Given the description of an element on the screen output the (x, y) to click on. 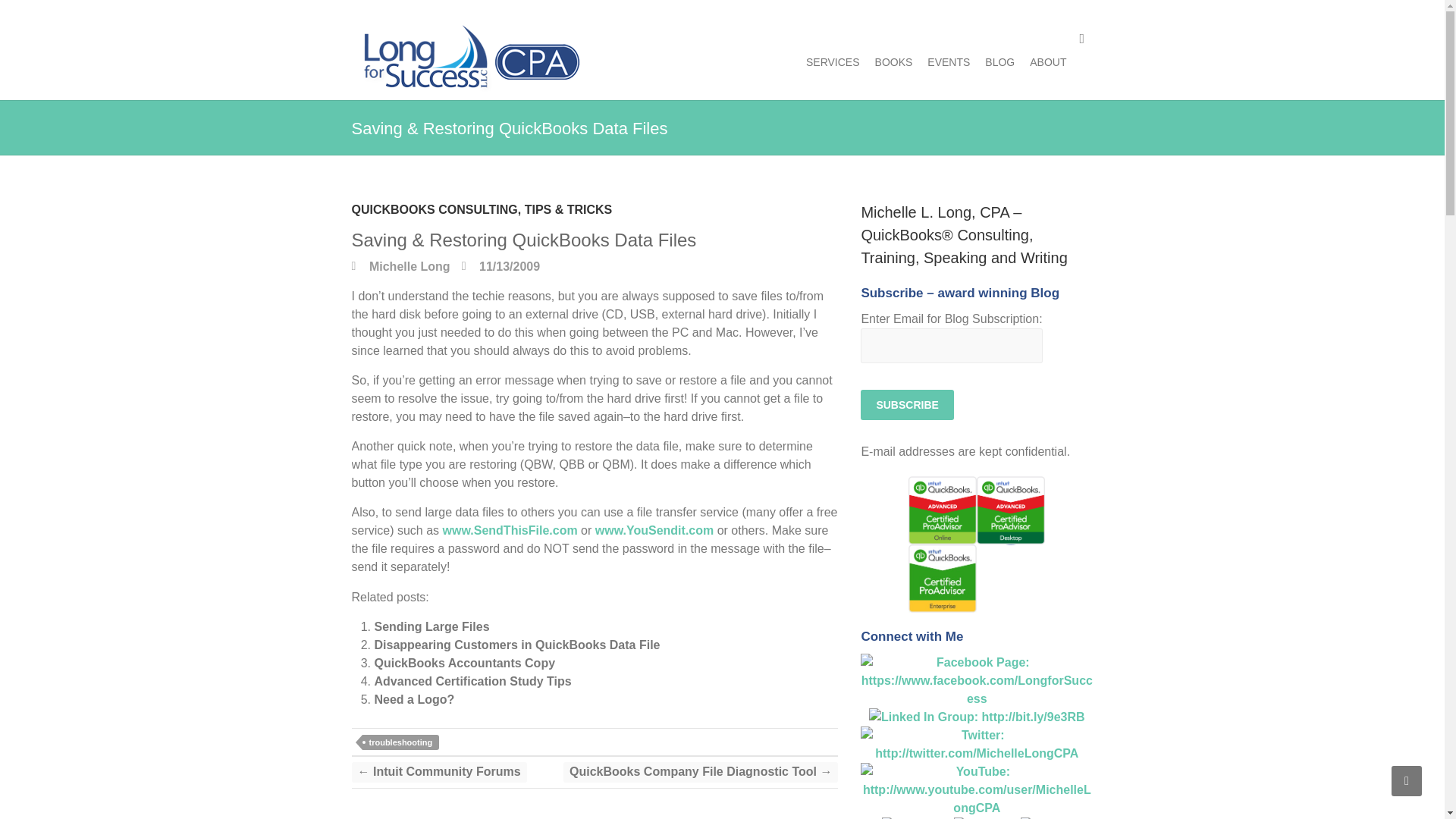
www.YouSendit.com (654, 530)
QUICKBOOKS CONSULTING (435, 213)
Sending Large Files (431, 626)
Michelle Long (400, 266)
QuickBooks Accountants Copy (465, 662)
Subscribe (906, 404)
Subscribe (906, 404)
Sending Large Files (431, 626)
Advanced Certification Study Tips (473, 680)
QuickBooks Accountants Copy (465, 662)
Michelle Long (400, 266)
Advanced Certification Study Tips (473, 680)
troubleshooting (400, 742)
5:35 PM (500, 266)
Need a Logo? (414, 698)
